Given the description of an element on the screen output the (x, y) to click on. 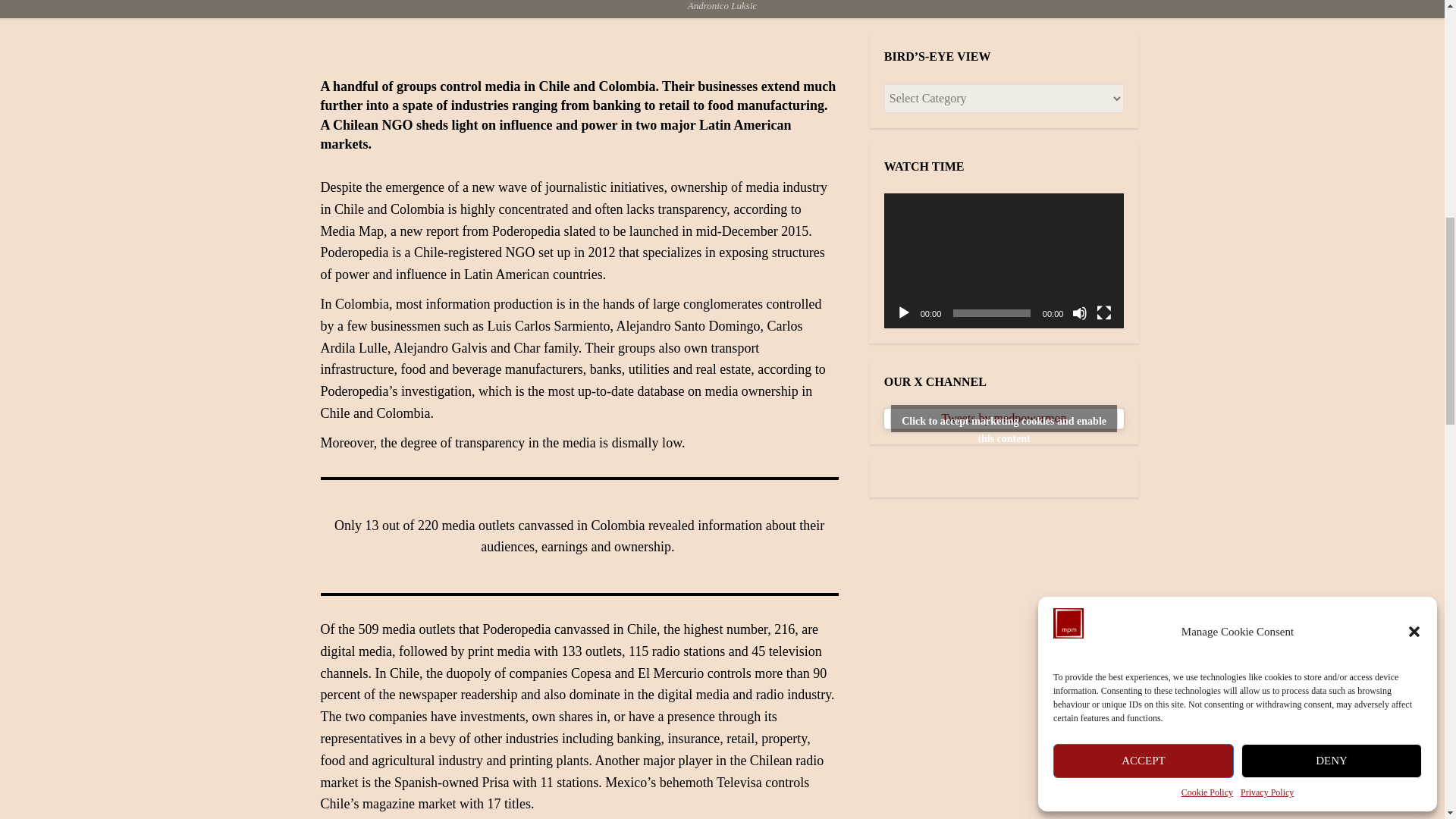
Play (903, 313)
Fullscreen (1104, 313)
Mute (1079, 313)
